Given the description of an element on the screen output the (x, y) to click on. 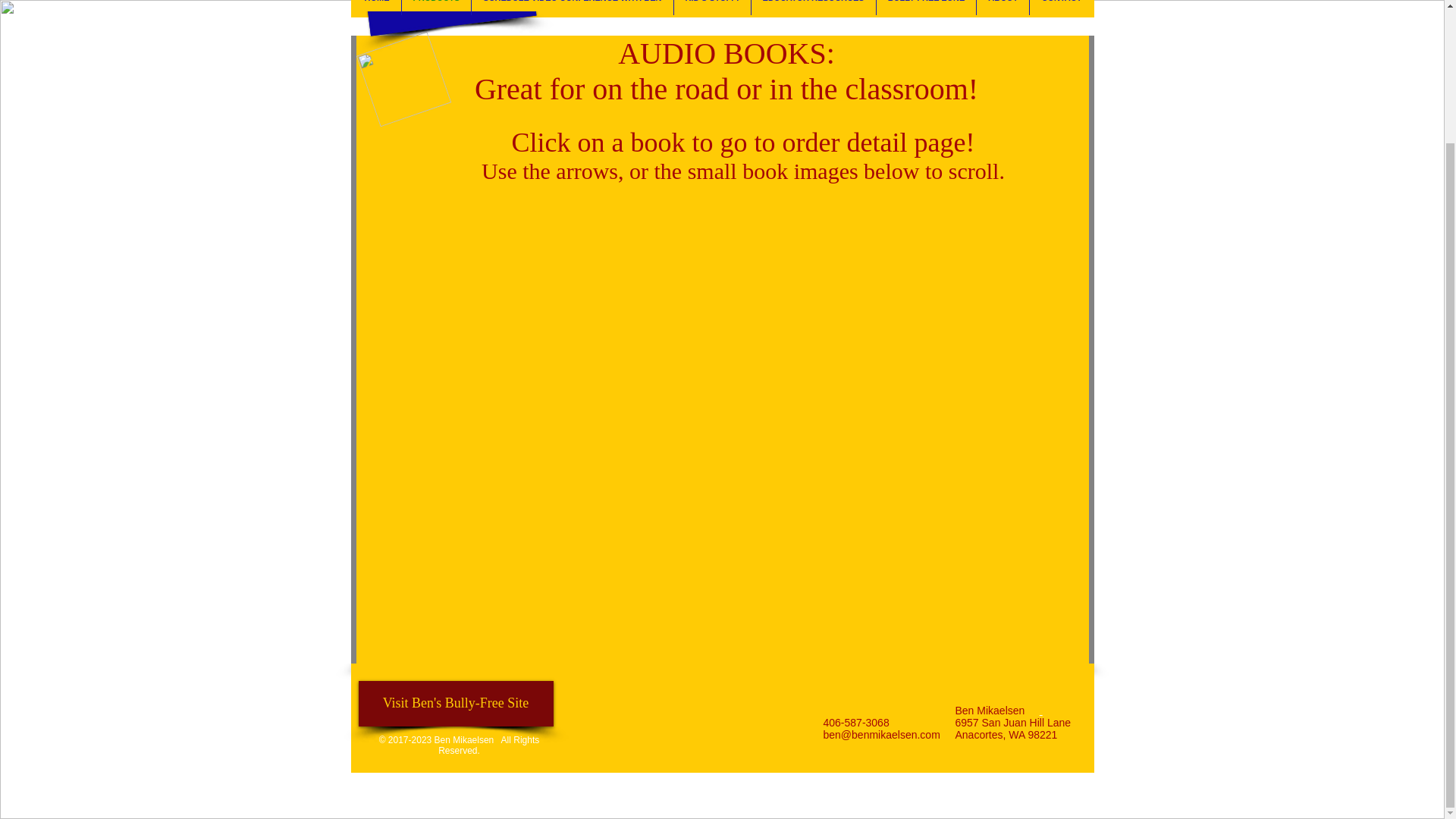
CONTACT (1061, 7)
Visit Ben's Bully-Free Site (455, 703)
redpaw.png (392, 69)
SCHEDULE VIDEO CONFERENCE WITH BEN (571, 7)
PRODUCTS (436, 7)
EDUCATOR RESOURCES (813, 7)
HOME (377, 7)
6957 San Juan Hill Lane Anacortes, WA 98221 (1013, 728)
Ben Mikaelsen (429, 8)
ABOUT (1002, 7)
KID'S STUFF! (712, 7)
.com (928, 734)
BULLY-FREE ZONE (926, 7)
